Given the description of an element on the screen output the (x, y) to click on. 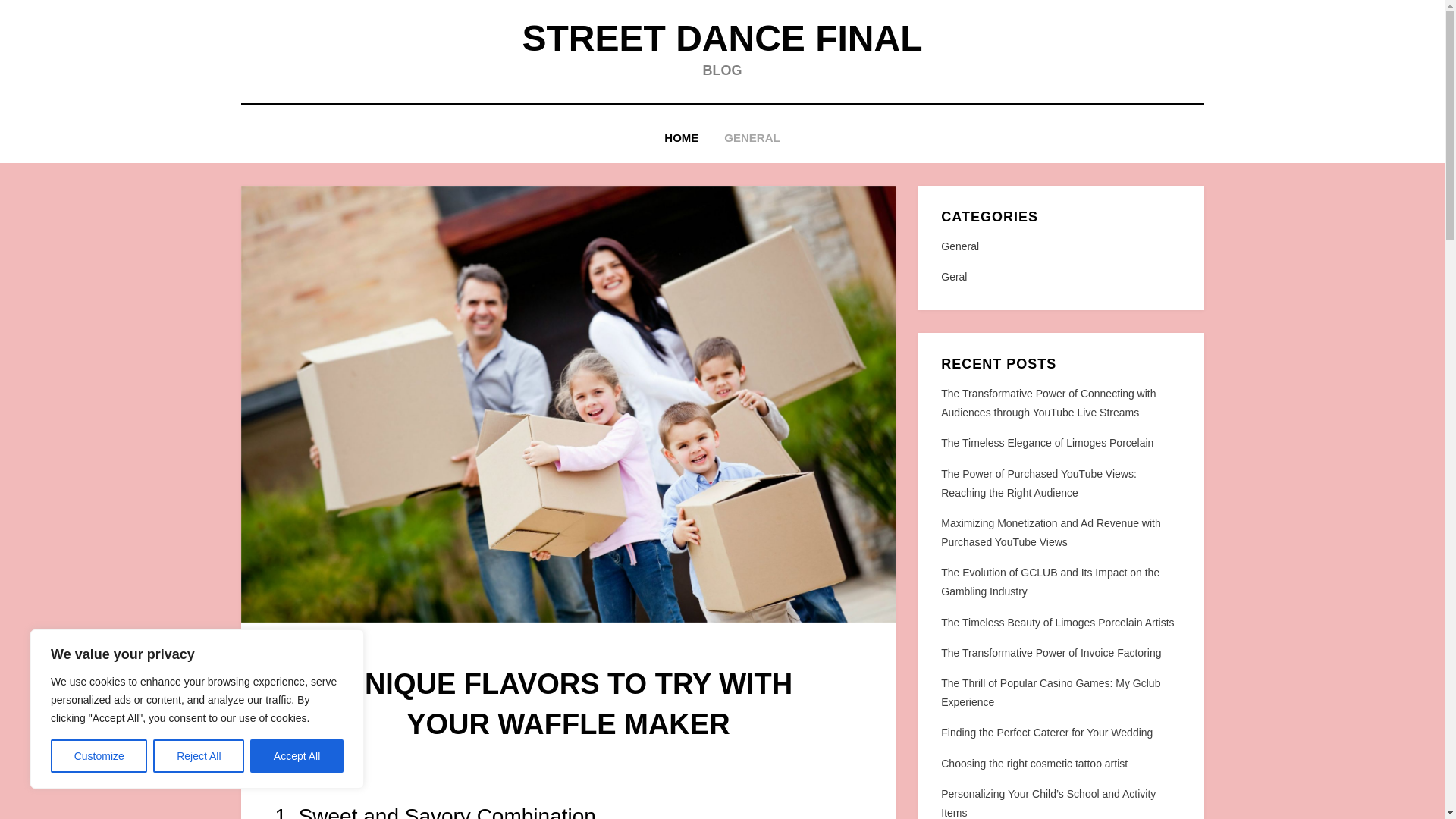
Reject All (198, 756)
Accept All (296, 756)
STREET DANCE FINAL (721, 38)
General (1060, 246)
GENERAL (751, 137)
The Timeless Beauty of Limoges Porcelain Artists (1056, 622)
Geral (1060, 276)
The Timeless Elegance of Limoges Porcelain (1046, 442)
HOME (680, 137)
Customize (98, 756)
Street Dance Final (721, 38)
